Given the description of an element on the screen output the (x, y) to click on. 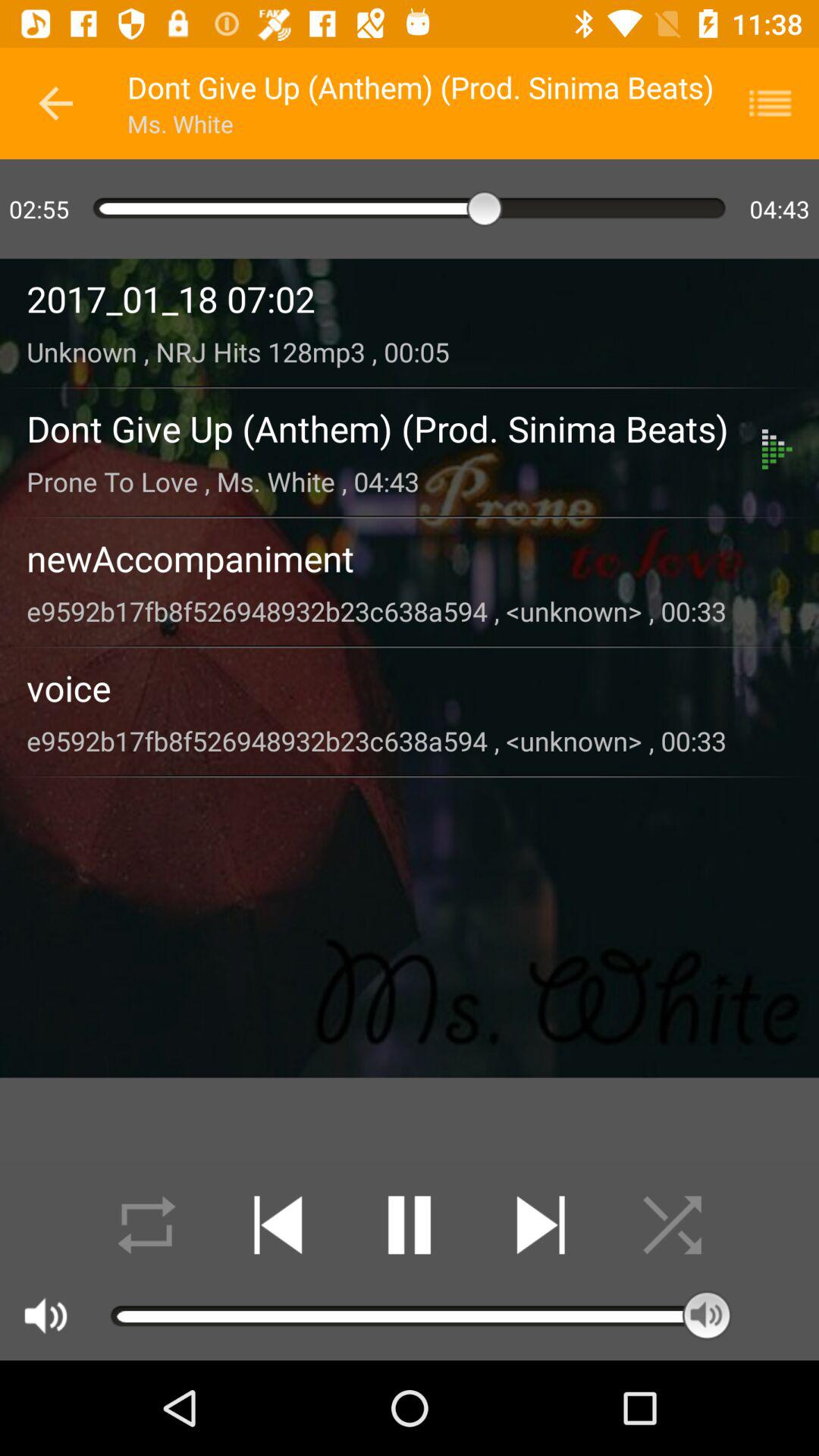
press the 2017_01_18 07:02 item (409, 298)
